Given the description of an element on the screen output the (x, y) to click on. 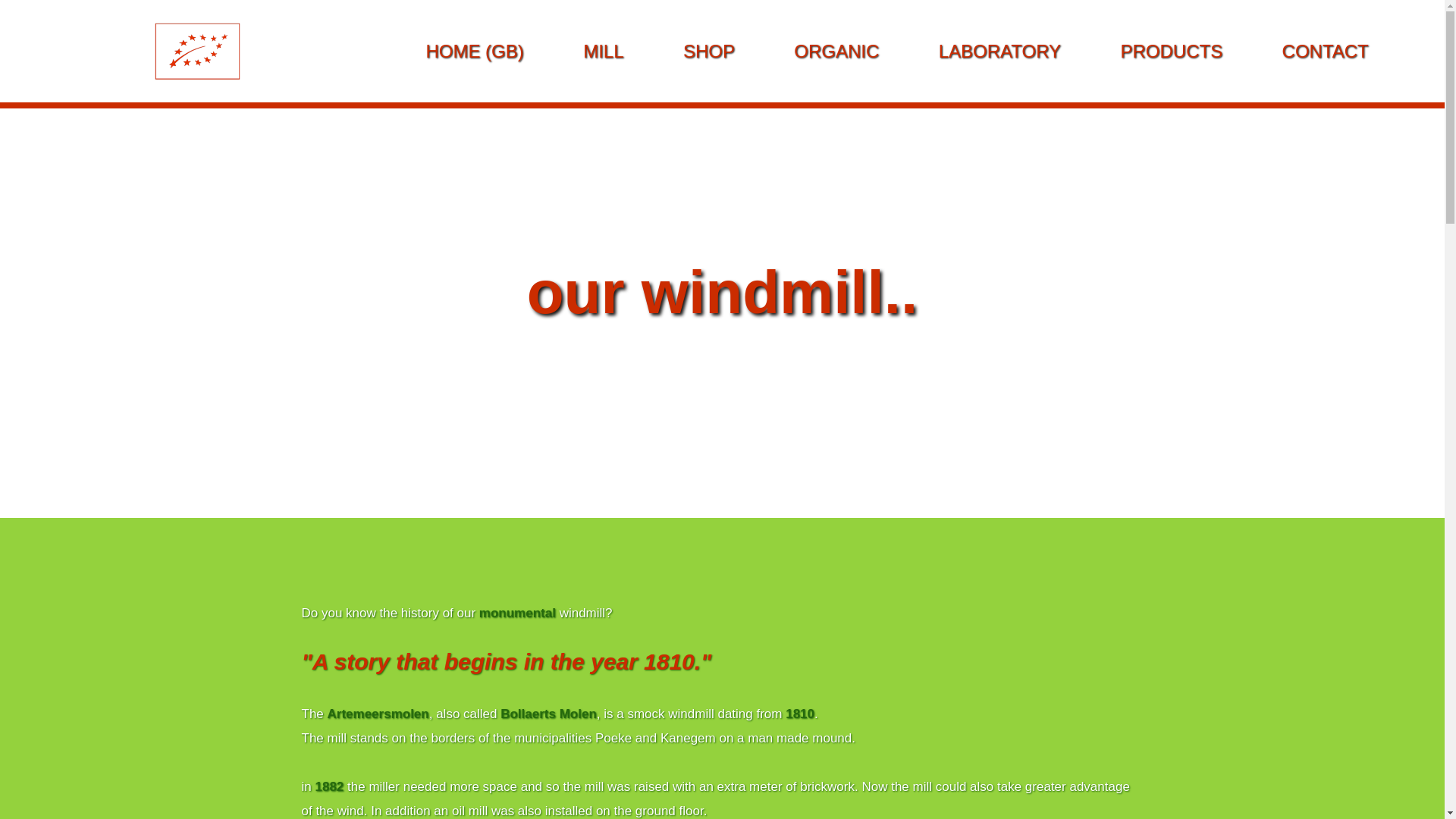
PRODUCTS (1171, 50)
MILL (602, 50)
ORGANIC (836, 50)
SHOP (709, 50)
CONTACT (1325, 50)
LABORATORY (1000, 50)
